Given the description of an element on the screen output the (x, y) to click on. 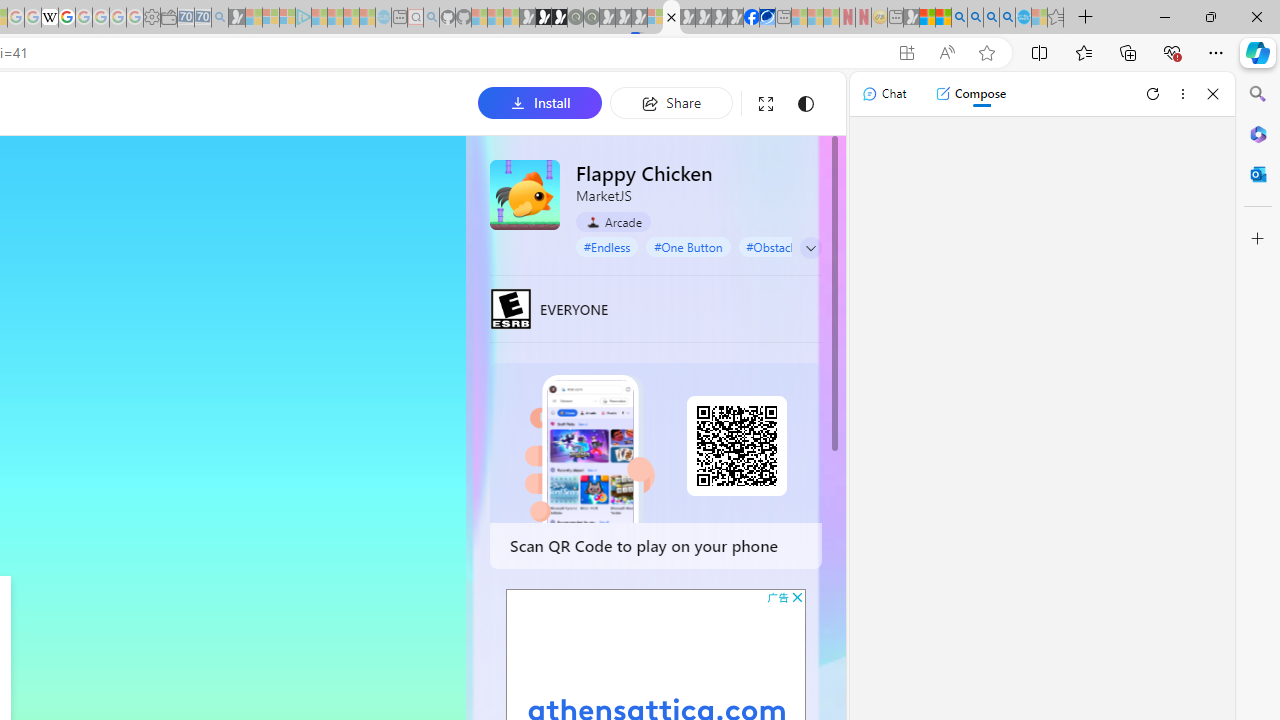
Flappy Chicken (525, 194)
Change to dark mode (805, 103)
#One Button (688, 246)
Nordace | Facebook (751, 17)
App available. Install Flappy Chicken (906, 53)
Arcade (613, 222)
